Given the description of an element on the screen output the (x, y) to click on. 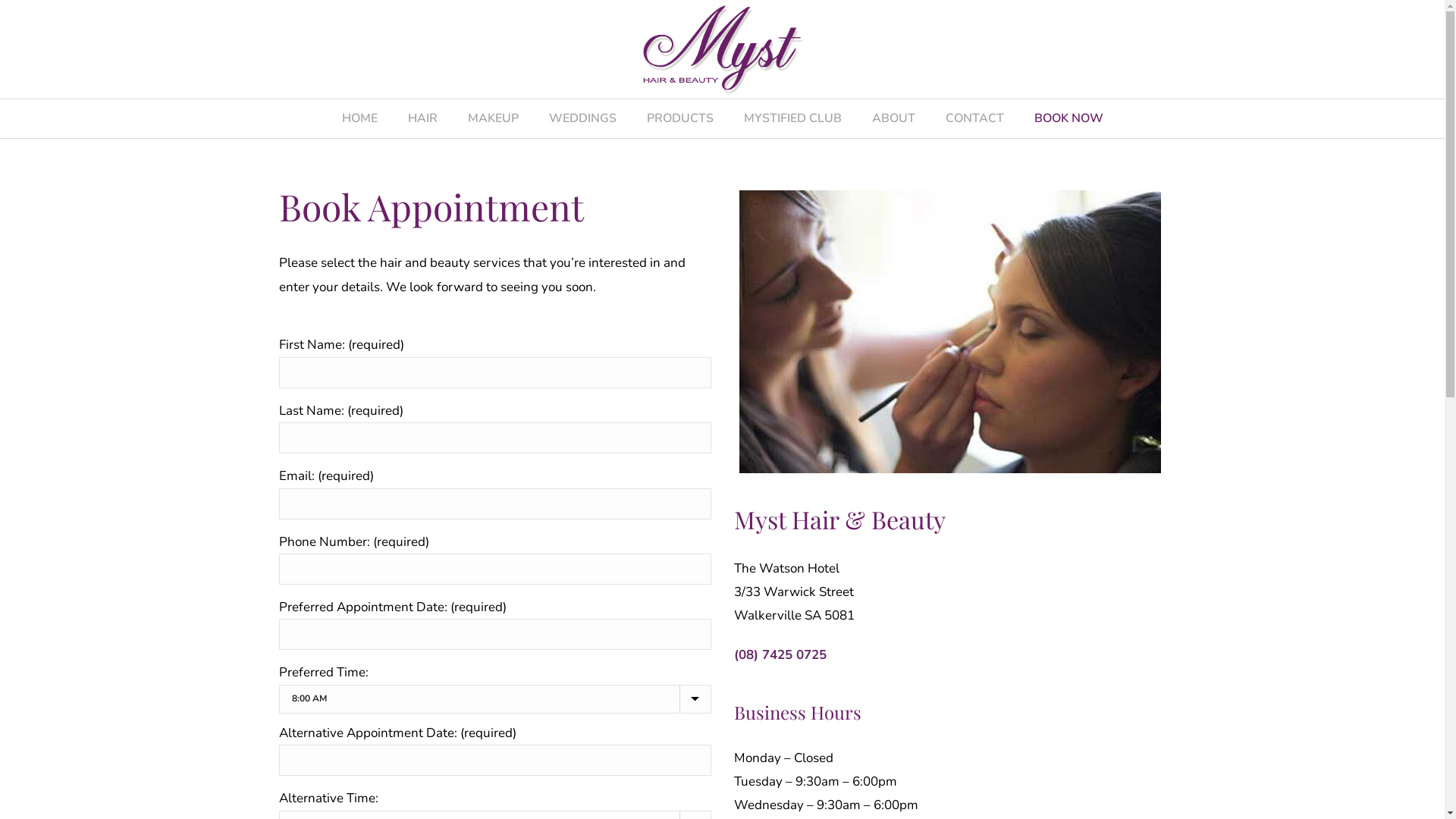
HOME Element type: text (359, 118)
(08) 7425 0725 Element type: text (780, 654)
MAKEUP Element type: text (492, 118)
CONTACT Element type: text (973, 118)
Myst Hair & Beauty Element type: hover (722, 49)
PRODUCTS Element type: text (679, 118)
BOOK NOW Element type: text (1068, 118)
WEDDINGS Element type: text (582, 118)
MYSTIFIED CLUB Element type: text (792, 118)
ABOUT Element type: text (893, 118)
HAIR Element type: text (422, 118)
